Given the description of an element on the screen output the (x, y) to click on. 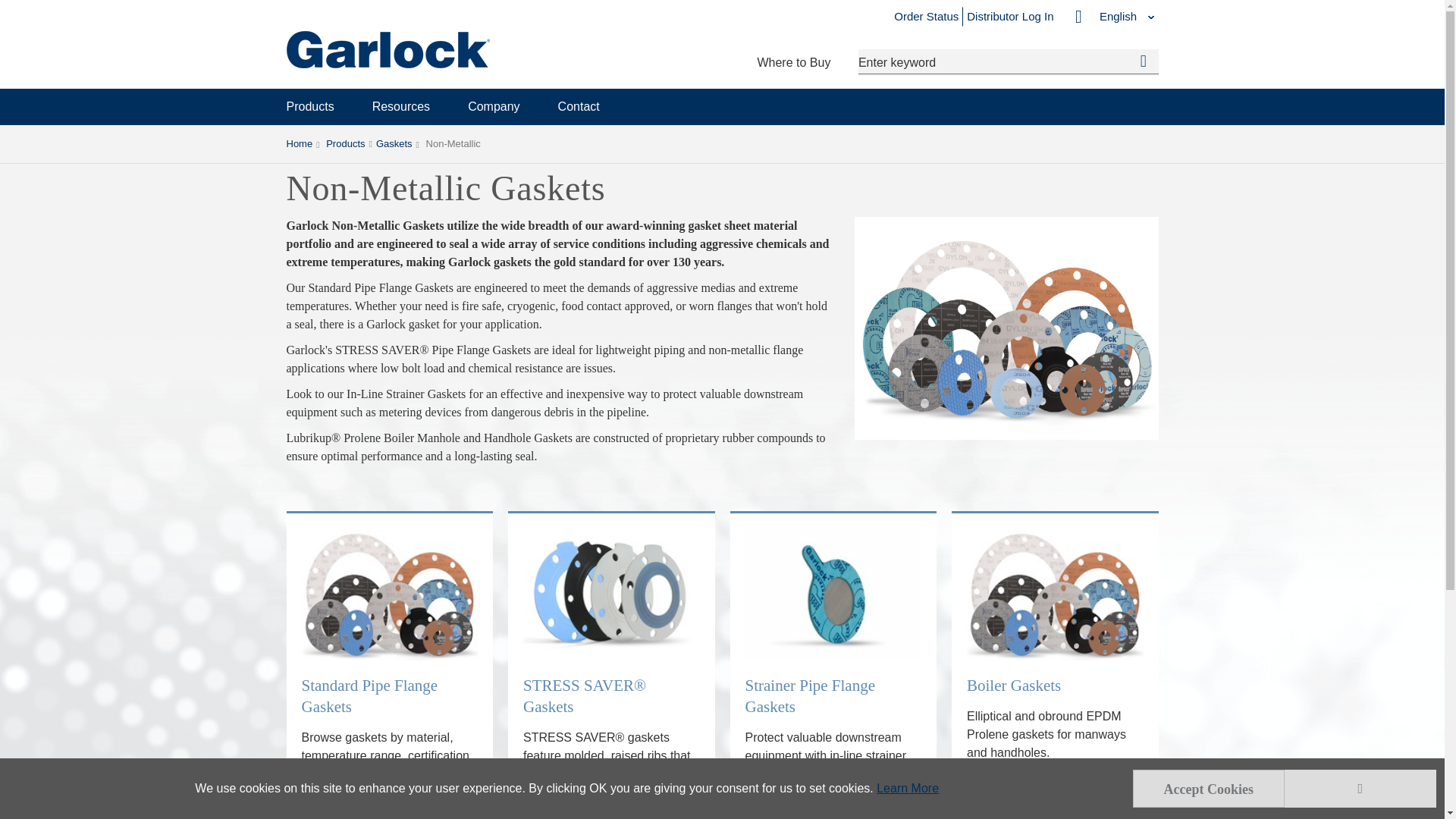
English (1106, 16)
Go (1143, 61)
Order Status (925, 16)
Where to Buy (793, 62)
Distributor Log In (1009, 16)
Products (310, 106)
